Given the description of an element on the screen output the (x, y) to click on. 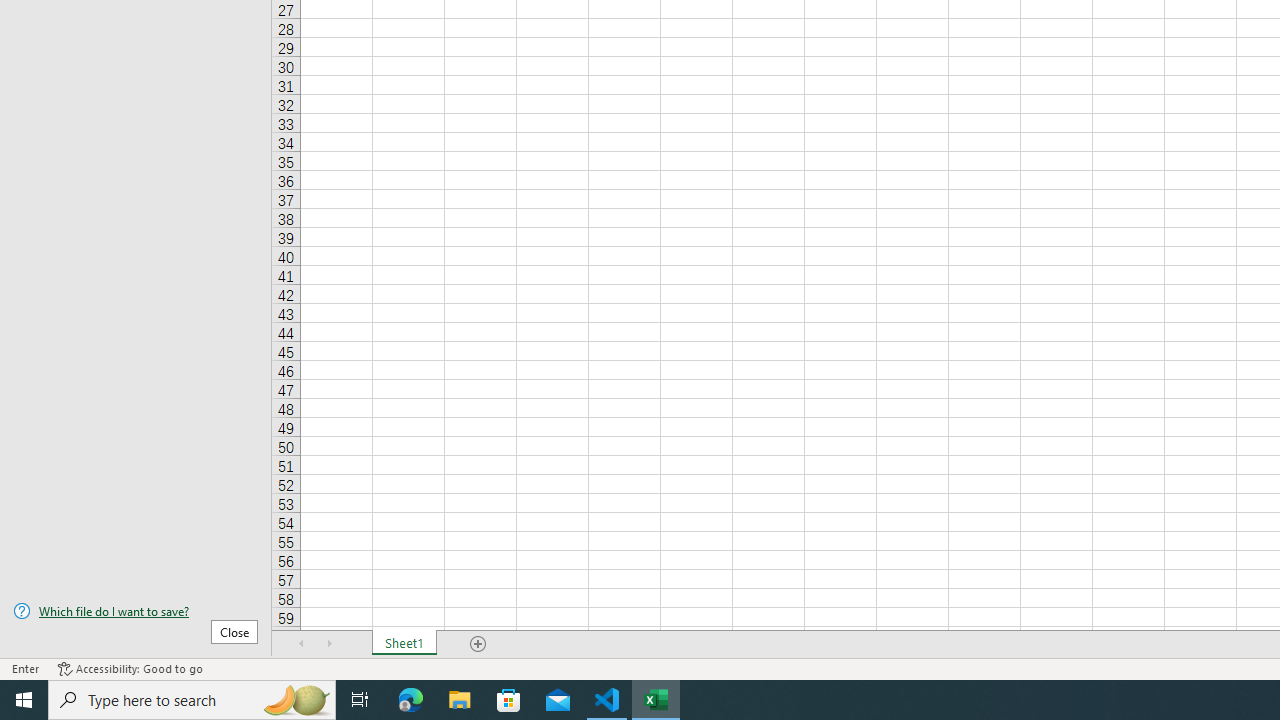
Accessibility Checker Accessibility: Good to go (130, 668)
Scroll Left (302, 644)
Sheet1 (404, 644)
Add Sheet (478, 644)
Scroll Right (330, 644)
Which file do I want to save? (136, 611)
